Given the description of an element on the screen output the (x, y) to click on. 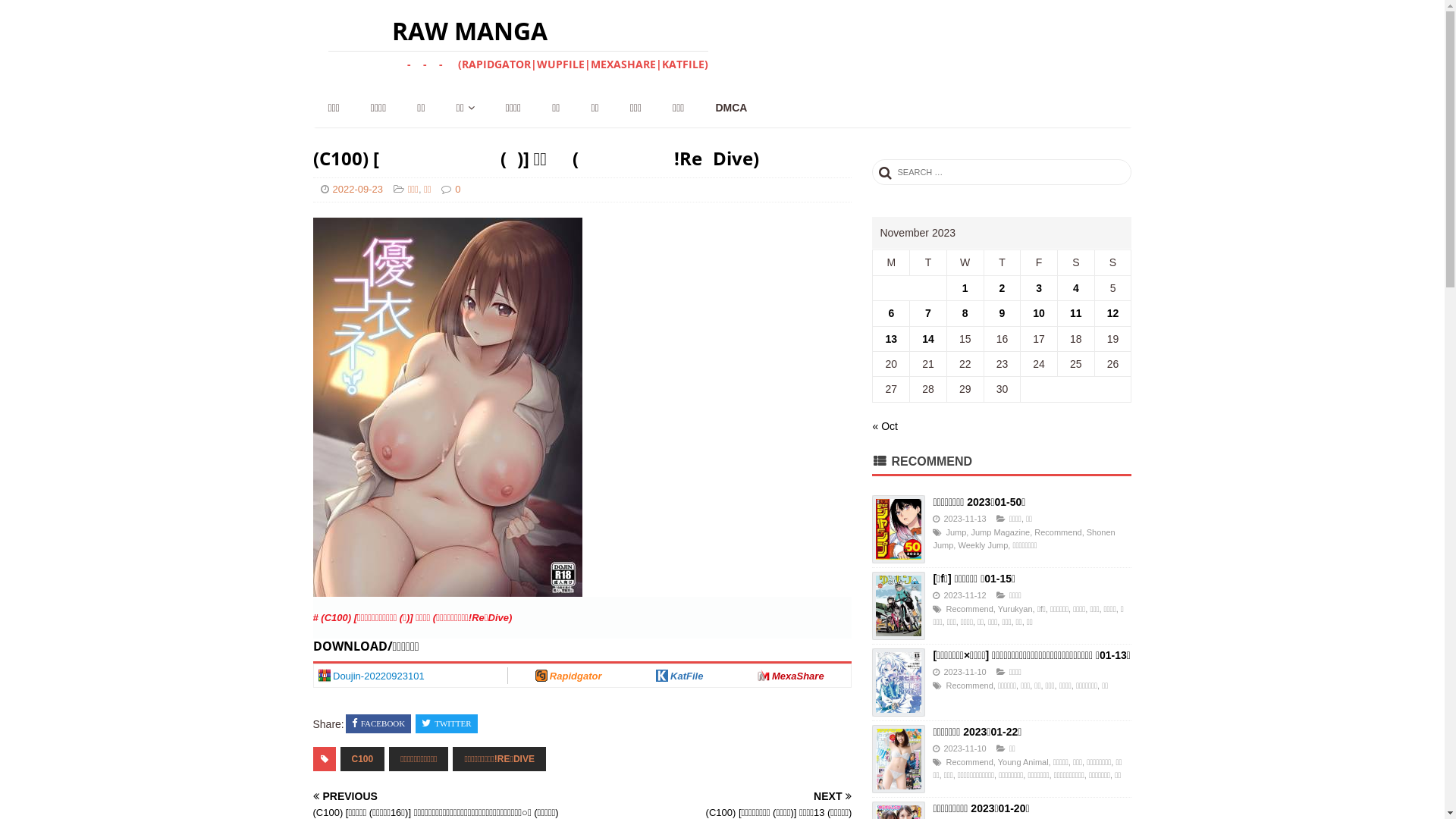
14 Element type: text (928, 338)
12 Element type: text (1113, 313)
8 Element type: text (965, 313)
4 Element type: text (1076, 288)
2 Element type: text (1002, 288)
1 Element type: text (965, 288)
11 Element type: text (1076, 313)
Recommend Element type: text (1057, 531)
10 Element type: text (1038, 313)
0 Element type: text (457, 188)
2022-09-23 Element type: text (357, 188)
TWITTER Element type: text (445, 724)
KatFile Element type: text (679, 675)
Search Element type: text (56, 11)
Jump Magazine Element type: text (999, 531)
Yurukyan Element type: text (1014, 608)
Recommend Element type: text (968, 685)
Jump Element type: text (955, 531)
Recommend Element type: text (968, 608)
3 Element type: text (1038, 288)
6 Element type: text (891, 313)
Weekly Jump Element type: text (982, 544)
C100 Element type: text (361, 758)
DMCA Element type: text (730, 107)
FACEBOOK Element type: text (378, 724)
Rapidgator Element type: text (568, 675)
Recommend Element type: text (968, 761)
7 Element type: text (928, 313)
MexaShare Element type: text (790, 675)
9 Element type: text (1002, 313)
Shonen Jump Element type: text (1023, 538)
13 Element type: text (891, 338)
Young Animal Element type: text (1022, 761)
